Given the description of an element on the screen output the (x, y) to click on. 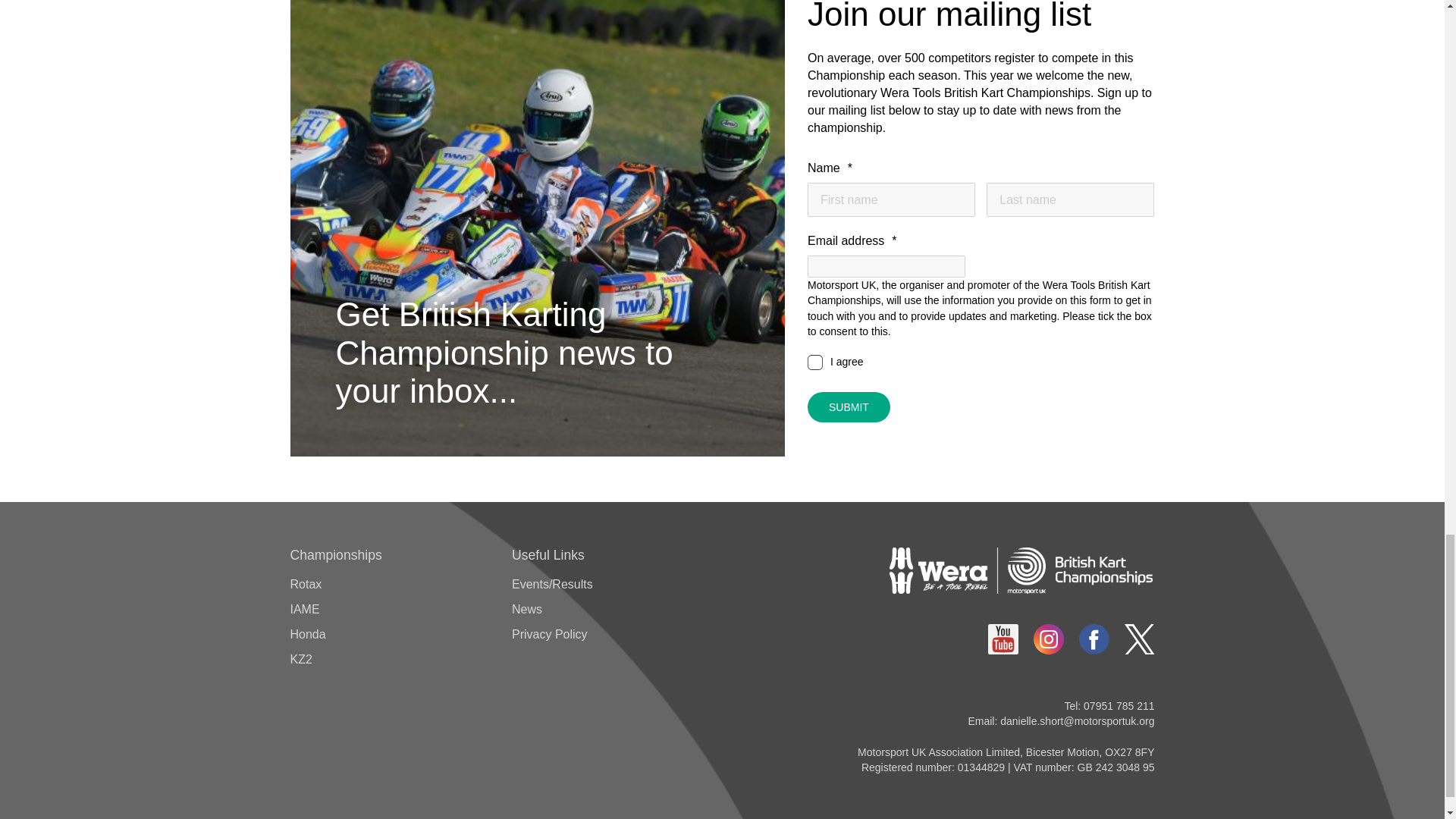
IAME (303, 608)
Submit (848, 407)
Submit (848, 407)
Motorsport UK (1021, 570)
Rotax (305, 584)
